Given the description of an element on the screen output the (x, y) to click on. 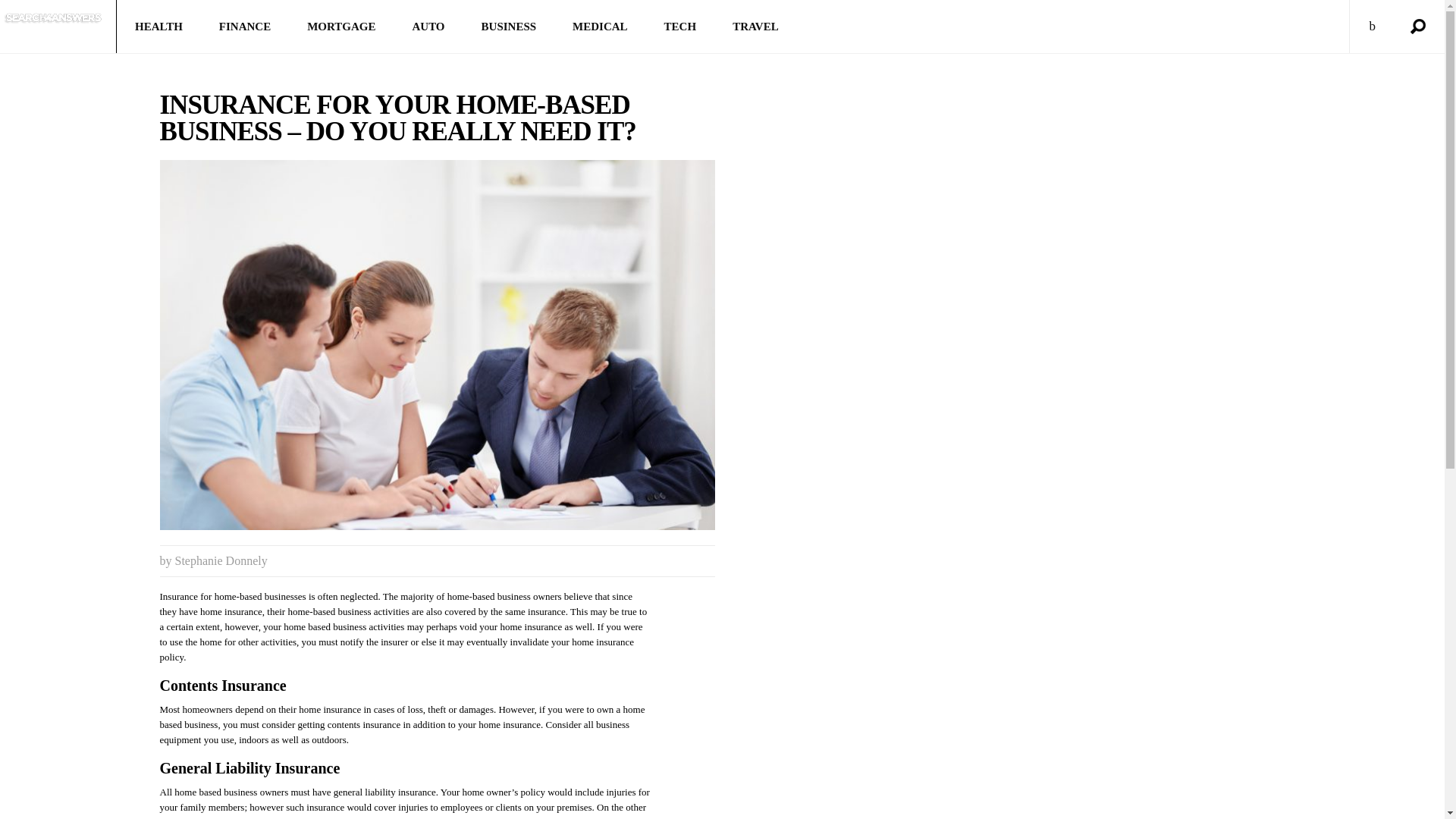
Health (158, 26)
FINANCE (244, 26)
MORTGAGE (340, 26)
HEALTH (158, 26)
